Given the description of an element on the screen output the (x, y) to click on. 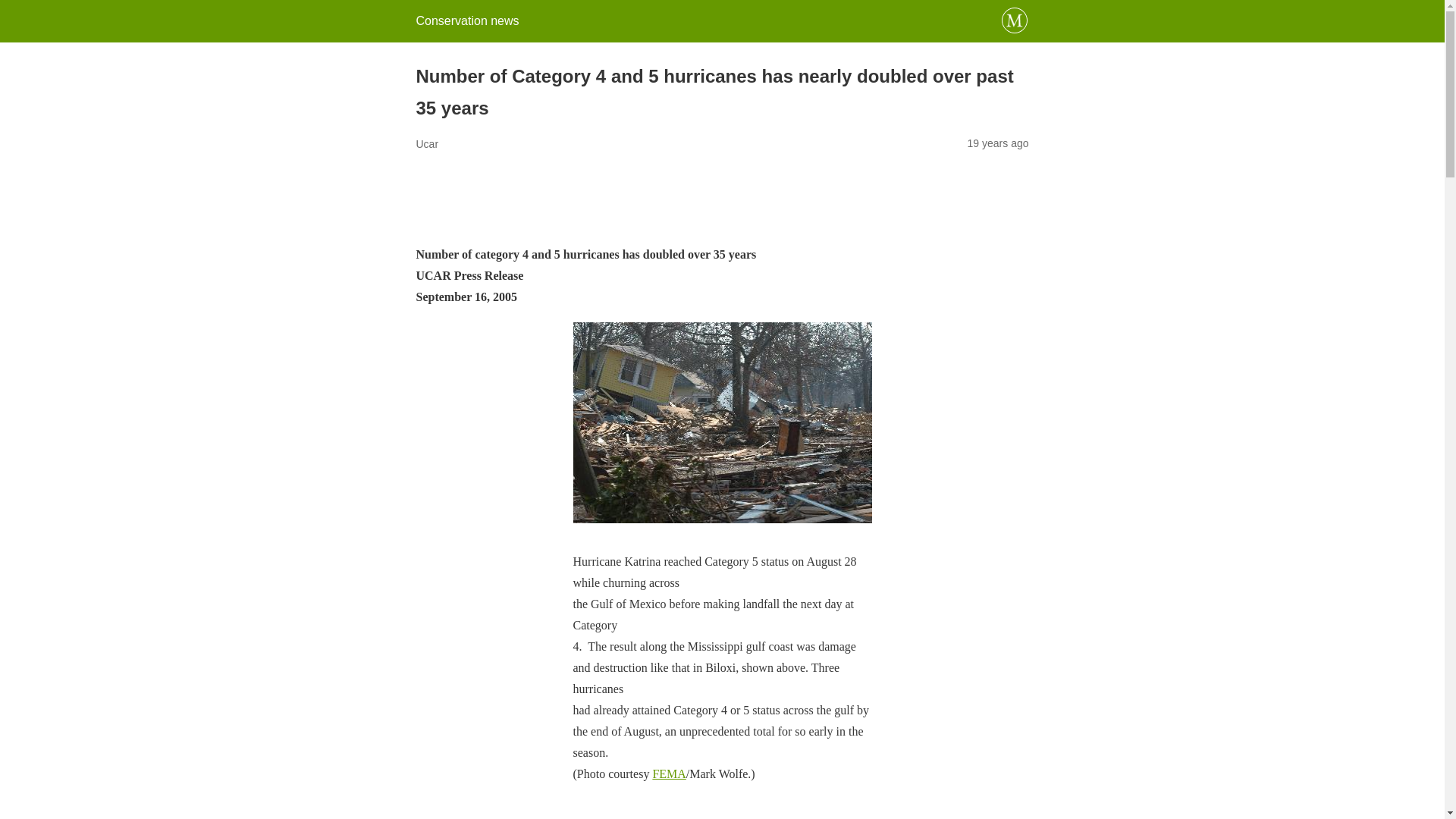
FEMA (668, 773)
Conservation news (466, 20)
